Given the description of an element on the screen output the (x, y) to click on. 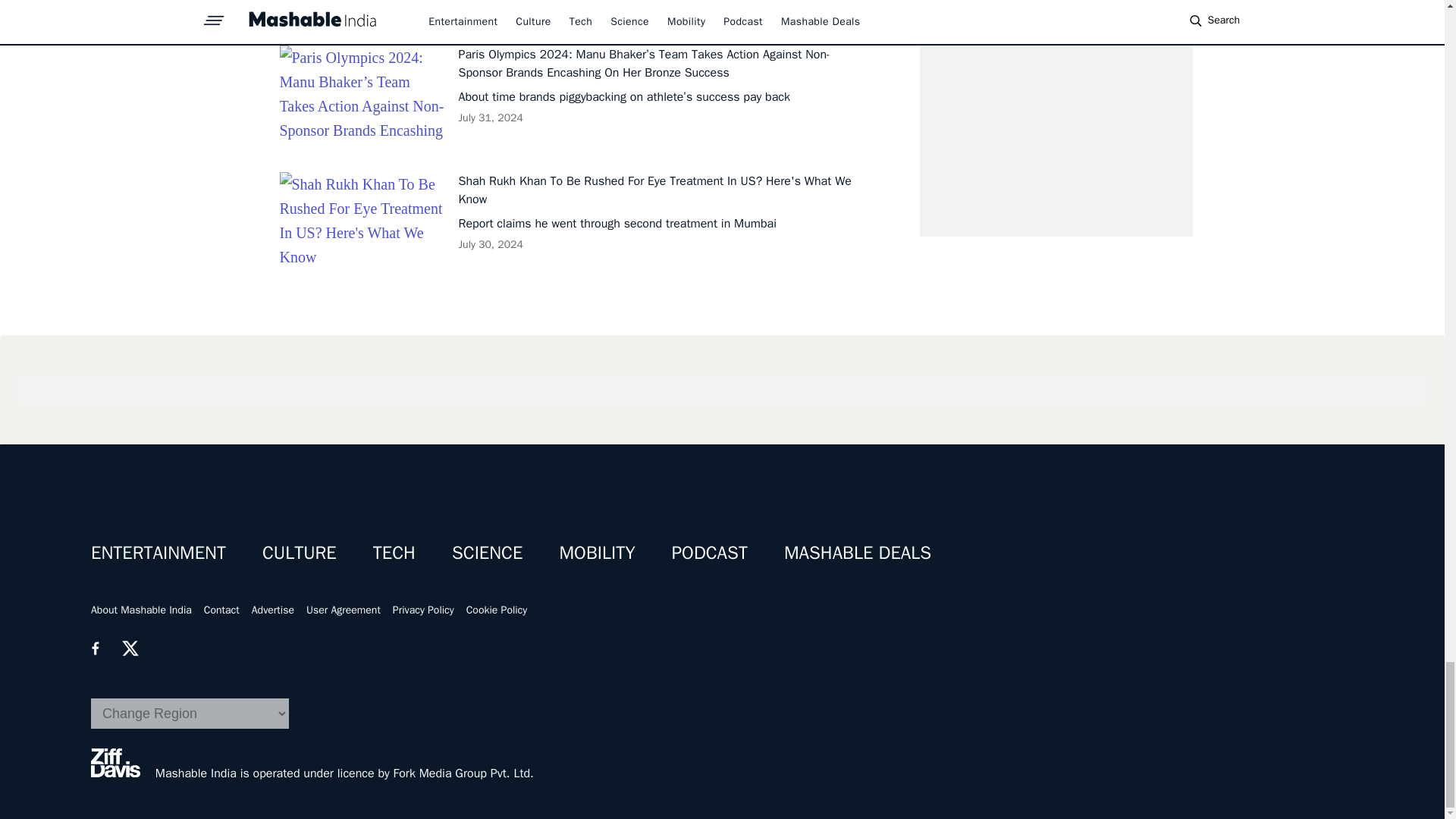
ENTERTAINMENT (157, 552)
